Given the description of an element on the screen output the (x, y) to click on. 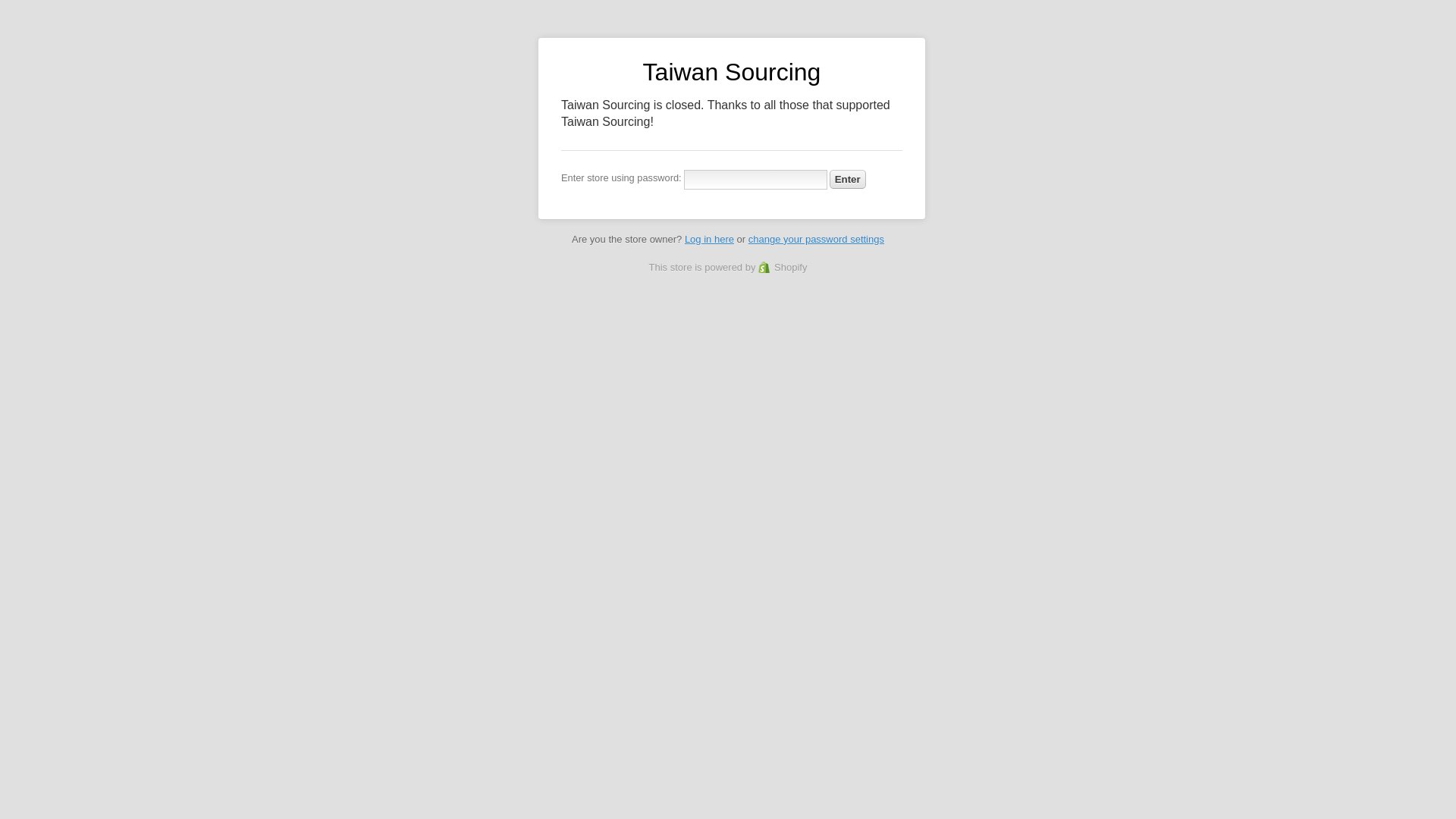
Enter (847, 179)
Enter (847, 179)
